Given the description of an element on the screen output the (x, y) to click on. 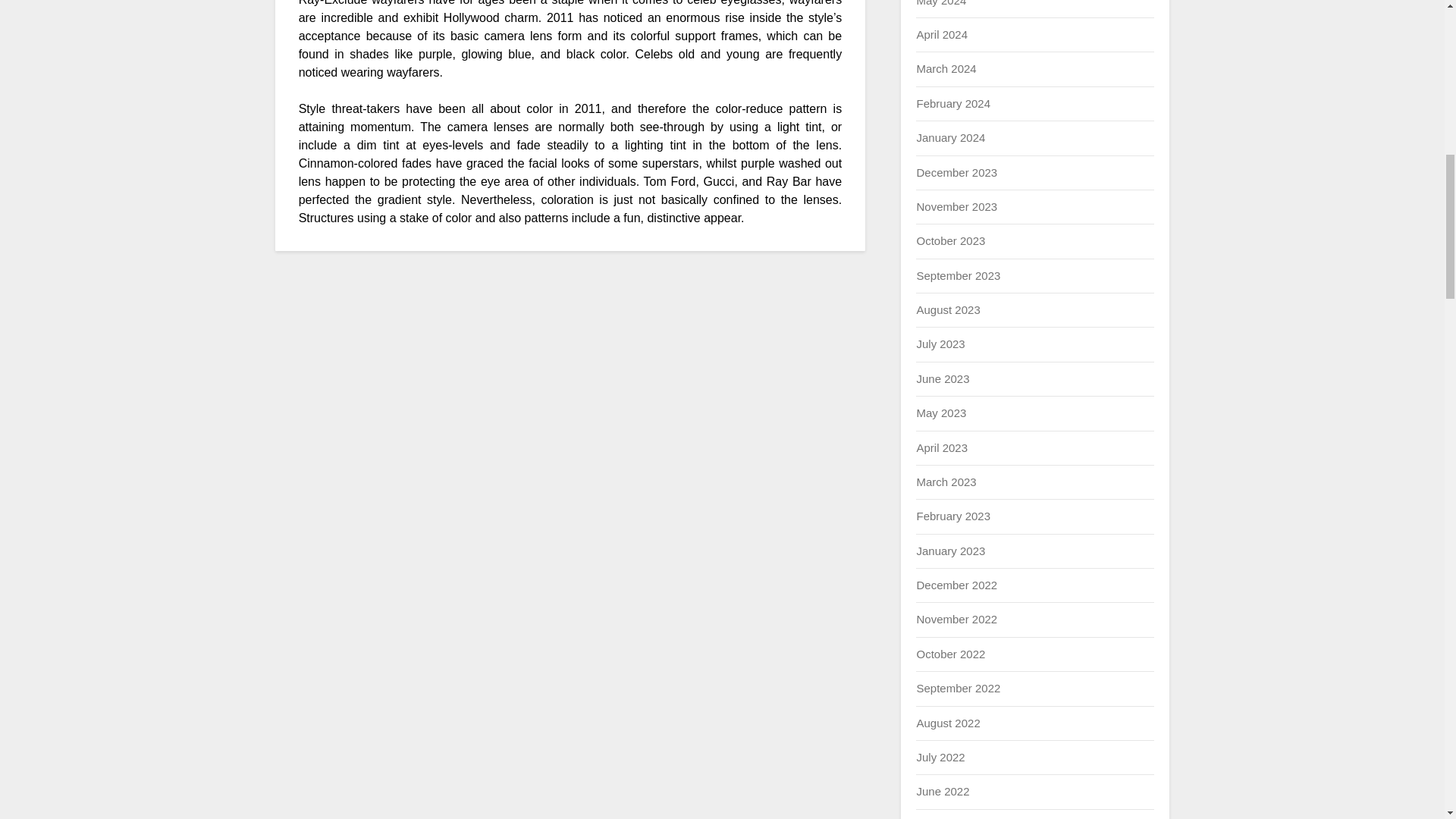
November 2023 (956, 205)
July 2023 (939, 343)
September 2022 (957, 687)
August 2023 (947, 309)
March 2024 (945, 68)
September 2023 (957, 275)
January 2024 (950, 137)
April 2023 (941, 447)
May 2023 (940, 412)
February 2023 (952, 515)
